Given the description of an element on the screen output the (x, y) to click on. 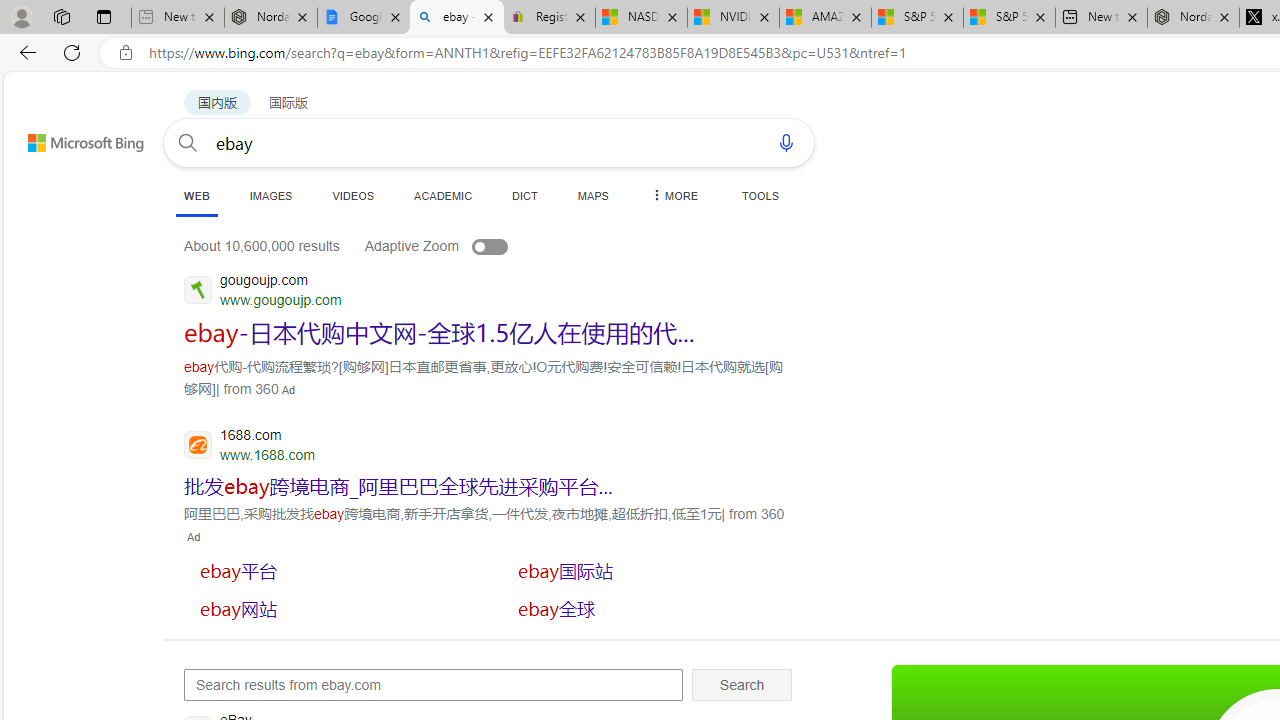
IMAGES (270, 195)
Adaptive Zoom (456, 245)
SERP,5704 (439, 331)
SERP,5713 (651, 570)
Register: Create a personal eBay account (549, 17)
MAPS (592, 195)
DICT (525, 195)
WEB (196, 195)
ACADEMIC (443, 195)
TOOLS (760, 195)
